Given the description of an element on the screen output the (x, y) to click on. 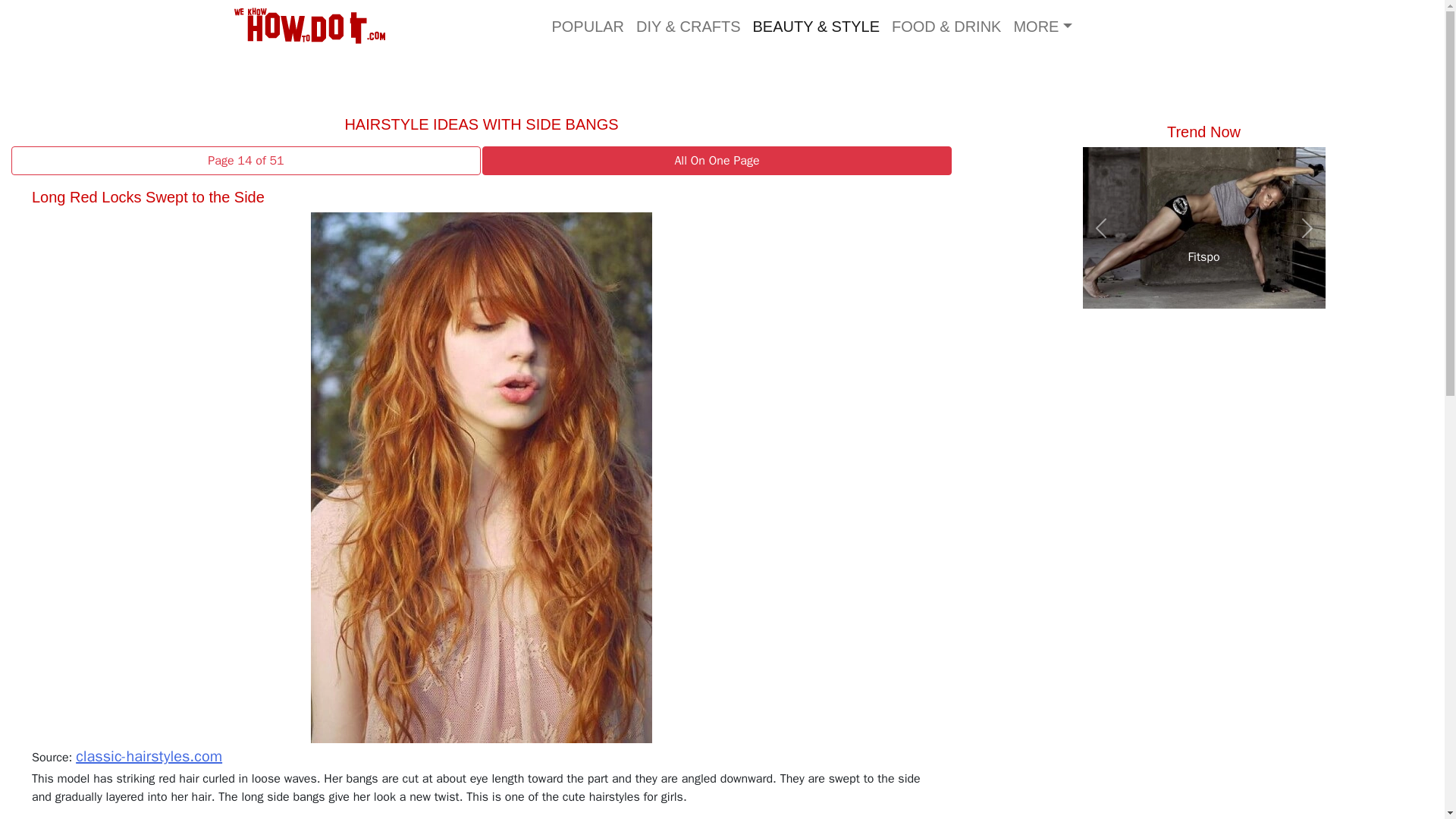
POPULAR (587, 26)
We Know How To Do It (313, 26)
glyphicon glyphicon-star-empty (815, 26)
MORE (1042, 26)
glyphicon glyphicon-scissors (687, 26)
glyphicon glyphicon-fire (587, 26)
All On One Page (716, 160)
glyphicon glyphicon-cutlery (946, 26)
classic-hairstyles.com (148, 755)
